Given the description of an element on the screen output the (x, y) to click on. 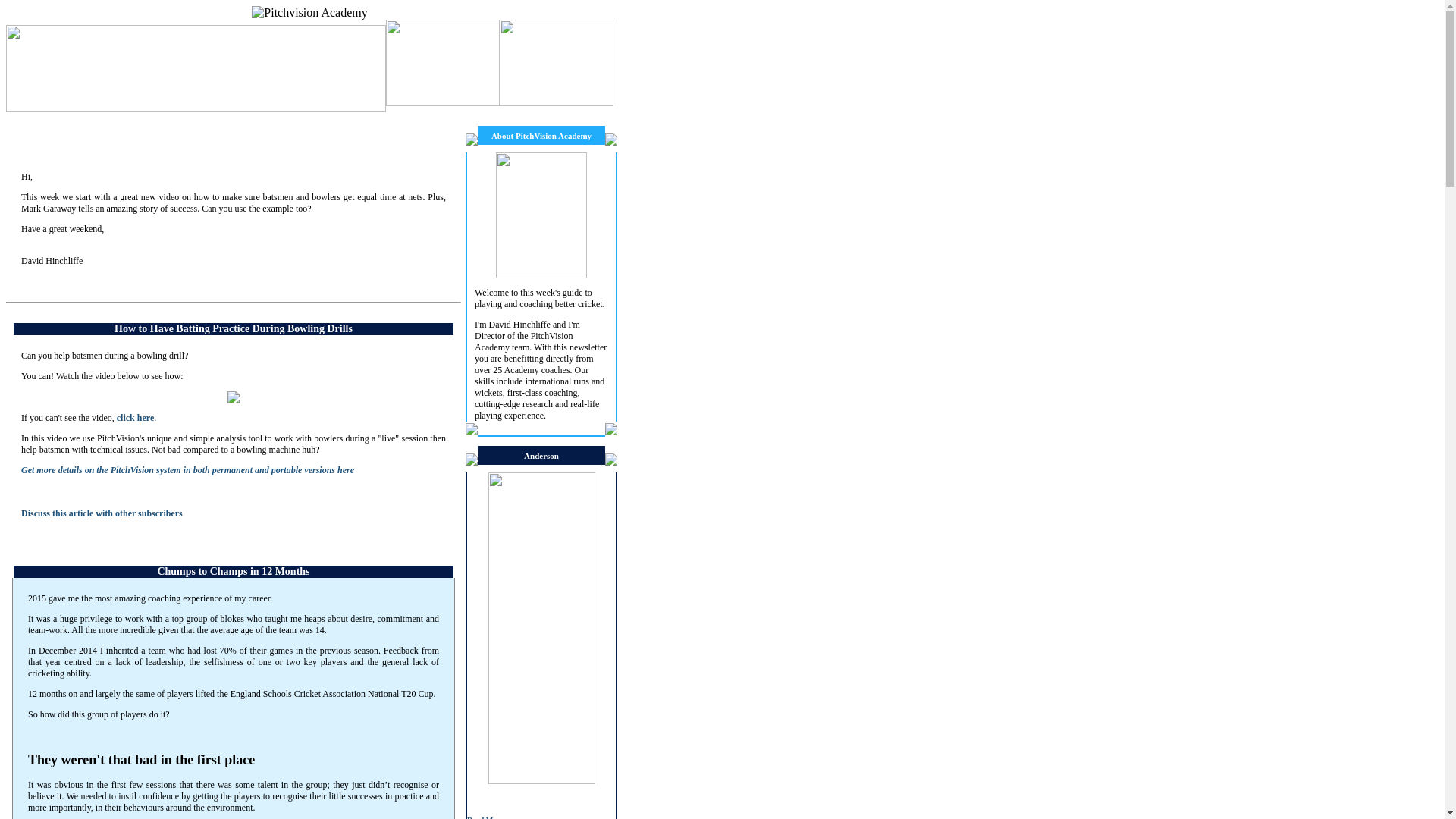
click here (135, 417)
Discuss this article with other subscribers (102, 512)
Read More... (487, 816)
